Given the description of an element on the screen output the (x, y) to click on. 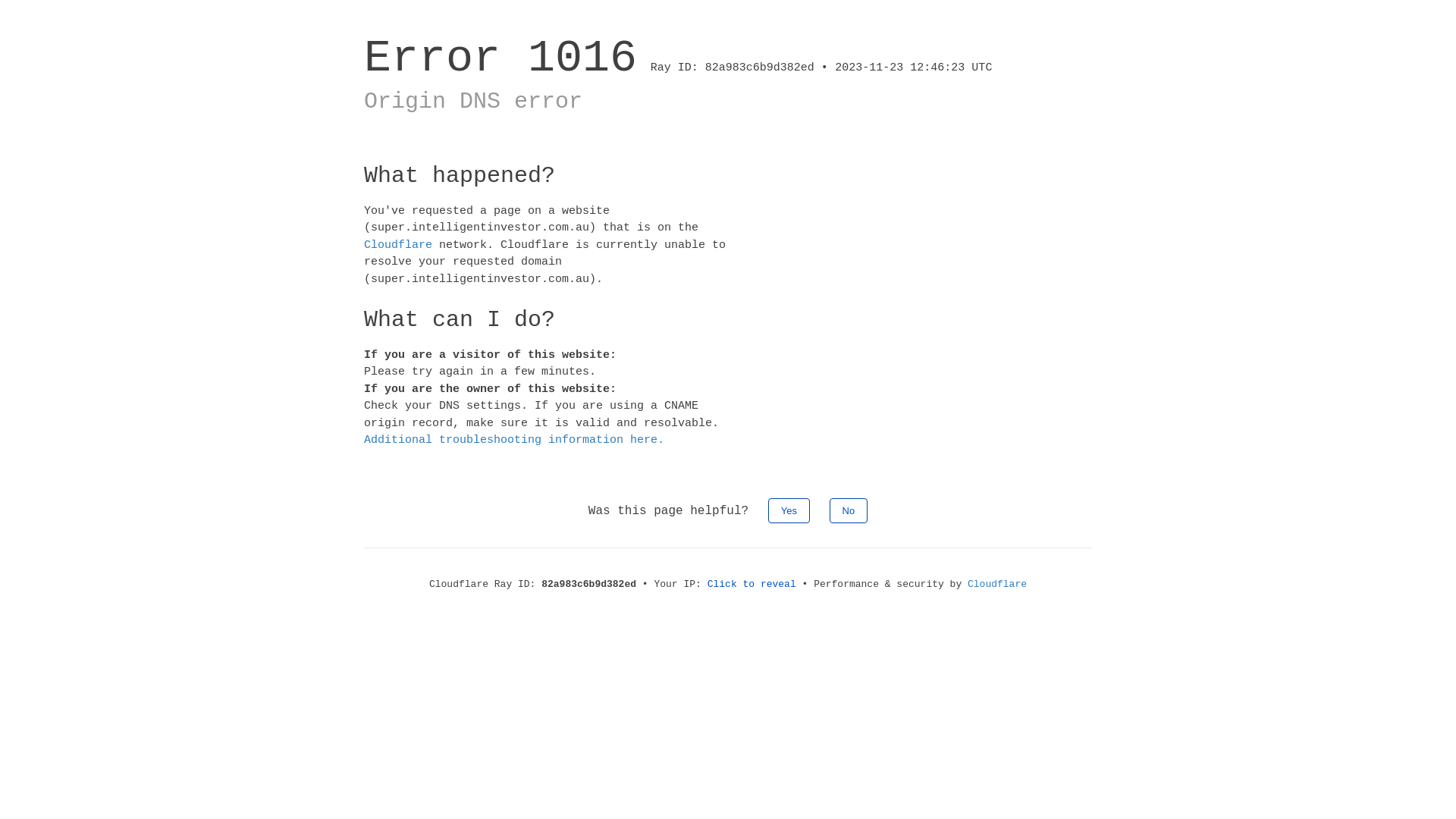
Additional troubleshooting information here. Element type: text (514, 439)
Yes Element type: text (788, 509)
Cloudflare Element type: text (398, 244)
Click to reveal Element type: text (751, 583)
Cloudflare Element type: text (996, 583)
No Element type: text (848, 509)
